Given the description of an element on the screen output the (x, y) to click on. 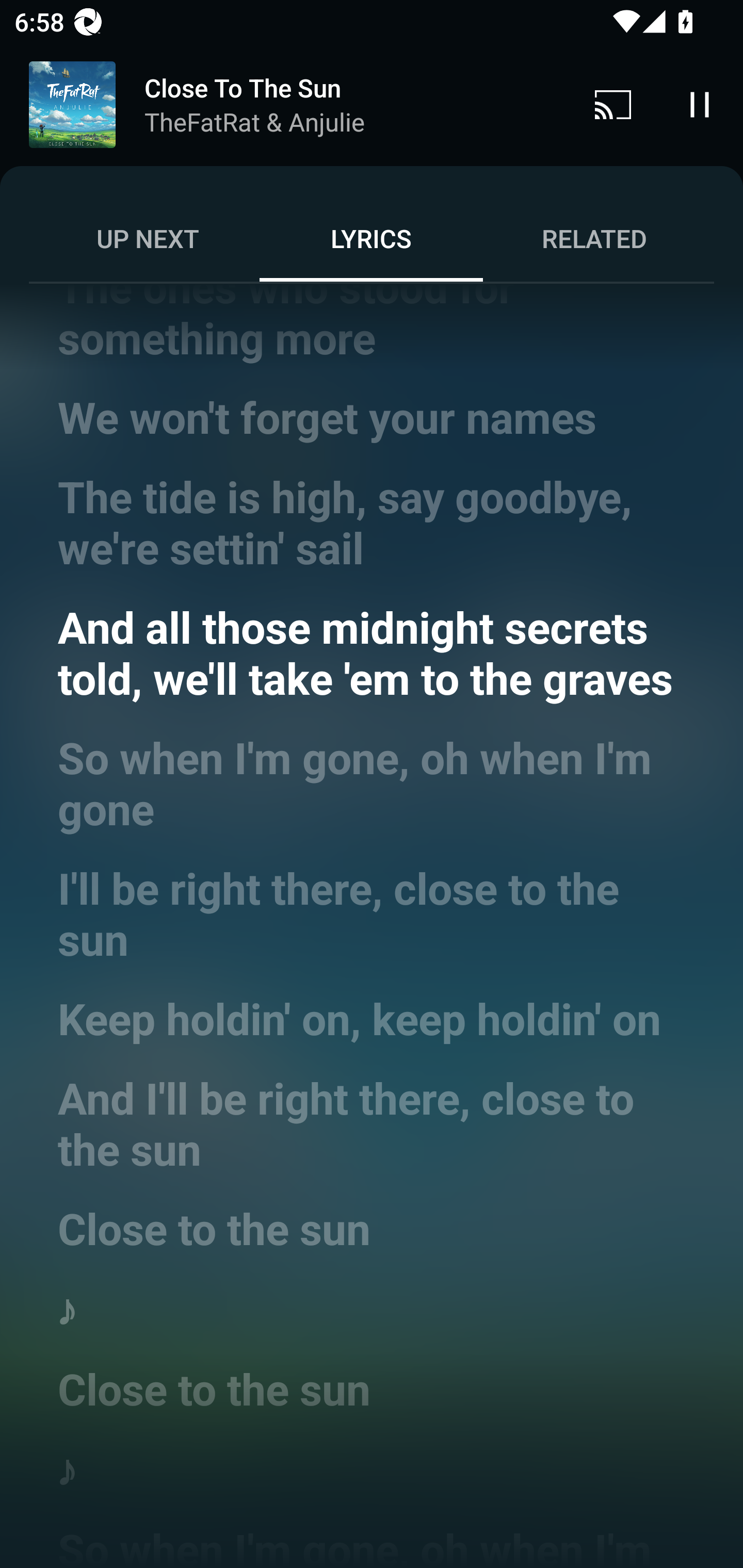
Close To The Sun TheFatRat & Anjulie (284, 104)
Search (605, 86)
Account (696, 86)
Up next UP NEXT (147, 238)
Related RELATED (594, 238)
